Given the description of an element on the screen output the (x, y) to click on. 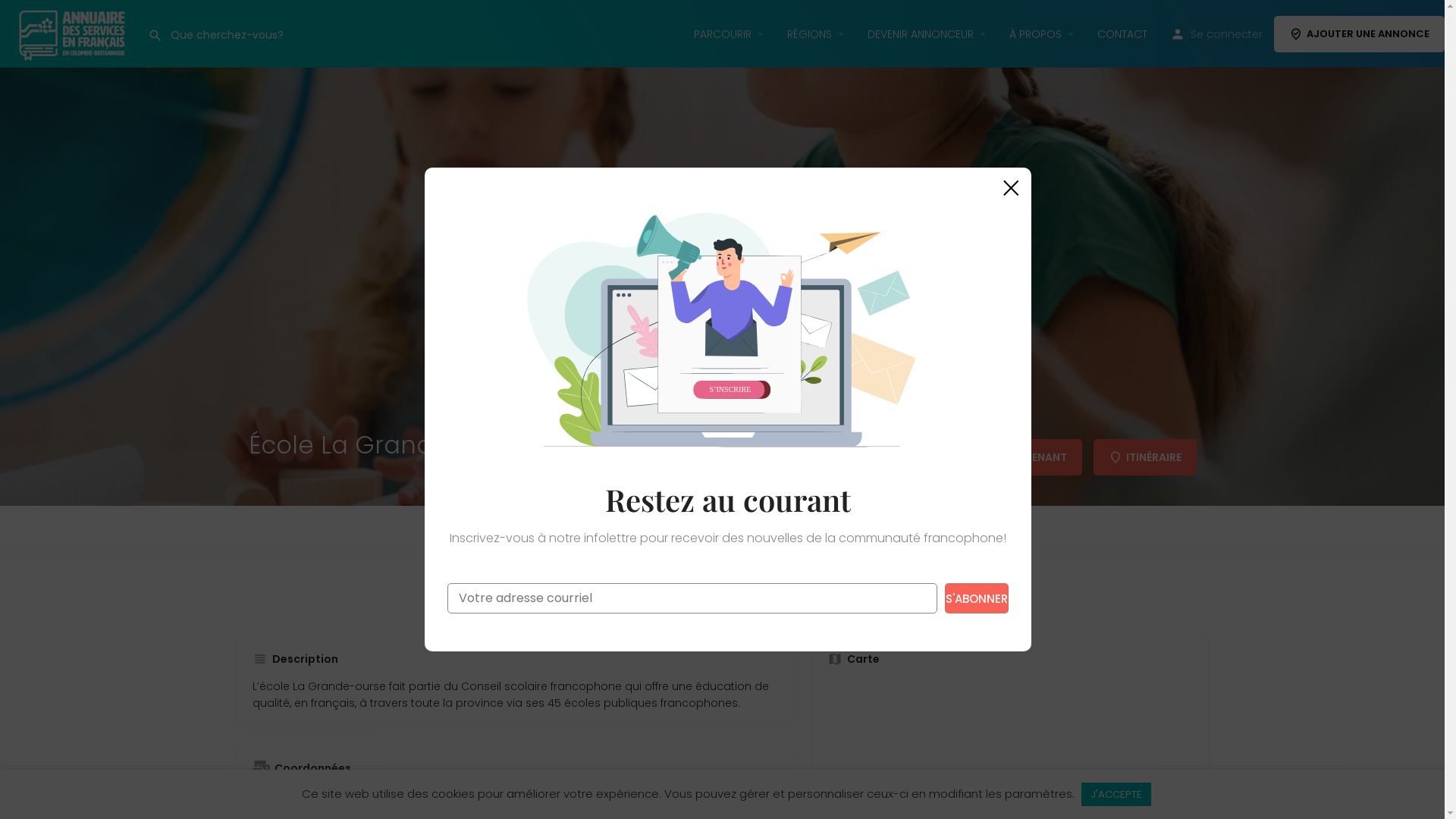
S'Abonner Element type: text (976, 598)
Partager Element type: text (921, 593)
CONTACT Element type: text (1110, 32)
APPELER MAINTENANT Element type: text (999, 457)
Autres adresses
46 Element type: text (855, 529)
J'ACCEPTE Element type: text (1116, 794)
conditions d'utilisation Element type: text (816, 626)
PARCOURIR Element type: text (711, 32)
Se connecter Element type: text (1215, 33)
AJOUTER UNE ANNONCE Element type: text (1347, 33)
Appeler maintenant Element type: text (642, 593)
Profil Element type: text (545, 529)
Ajouter aux favoris Element type: text (797, 593)
DEVENIR ANNONCEUR Element type: text (909, 32)
